Given the description of an element on the screen output the (x, y) to click on. 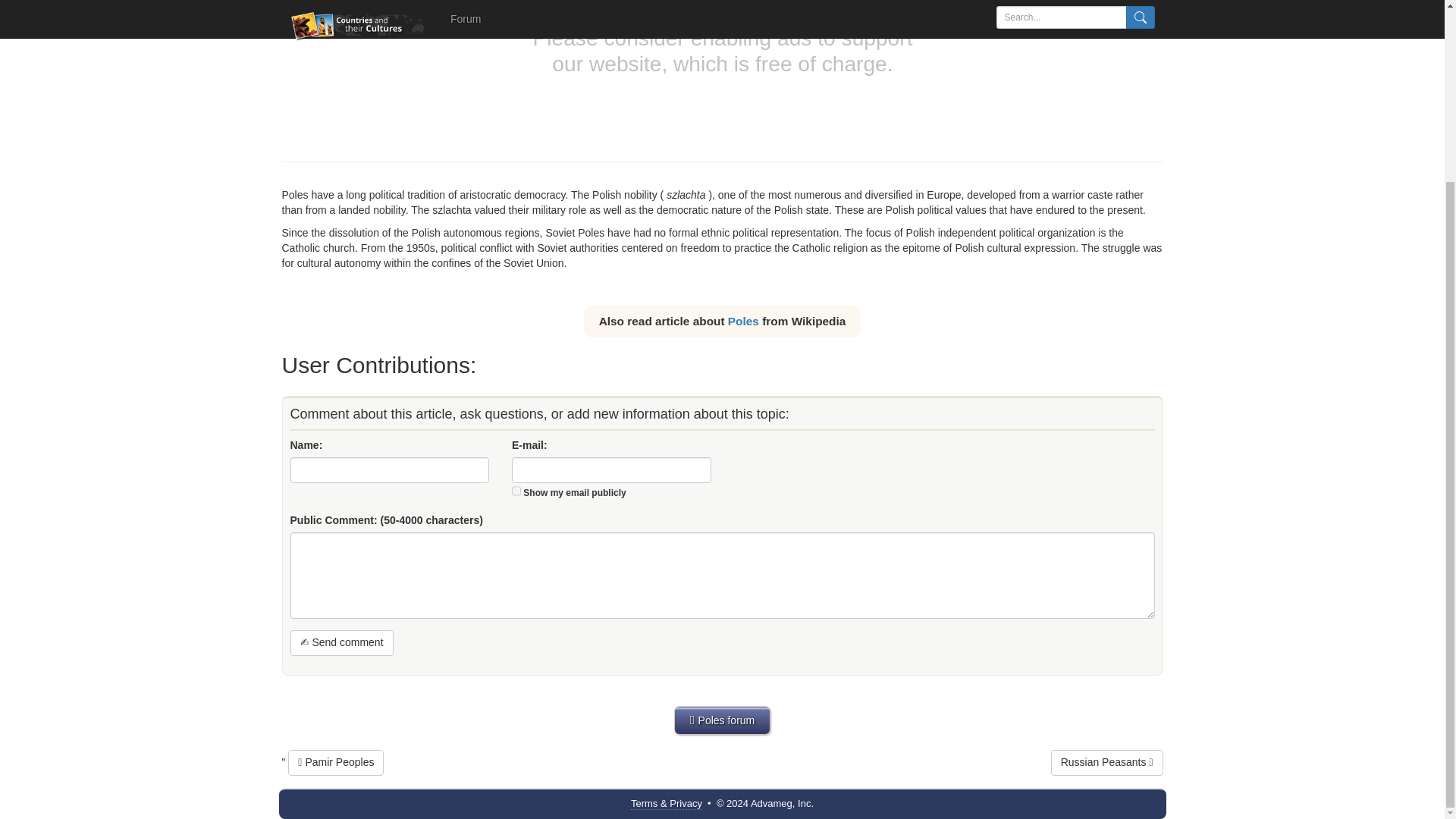
Pamir Peoples (336, 762)
Poles (743, 319)
1 (516, 491)
Russian Peasants (1107, 762)
Advertisement (722, 73)
Poles forum (722, 719)
